Given the description of an element on the screen output the (x, y) to click on. 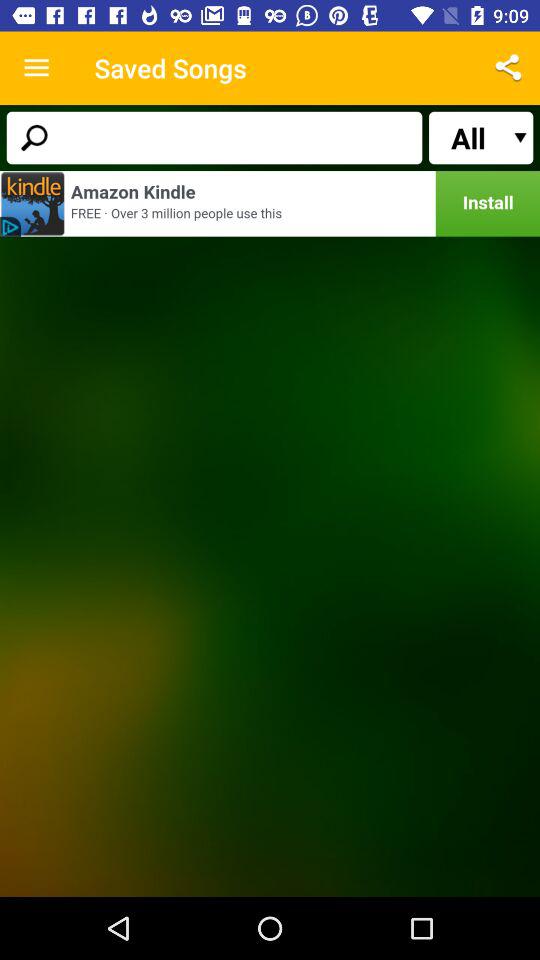
typing box (214, 137)
